Given the description of an element on the screen output the (x, y) to click on. 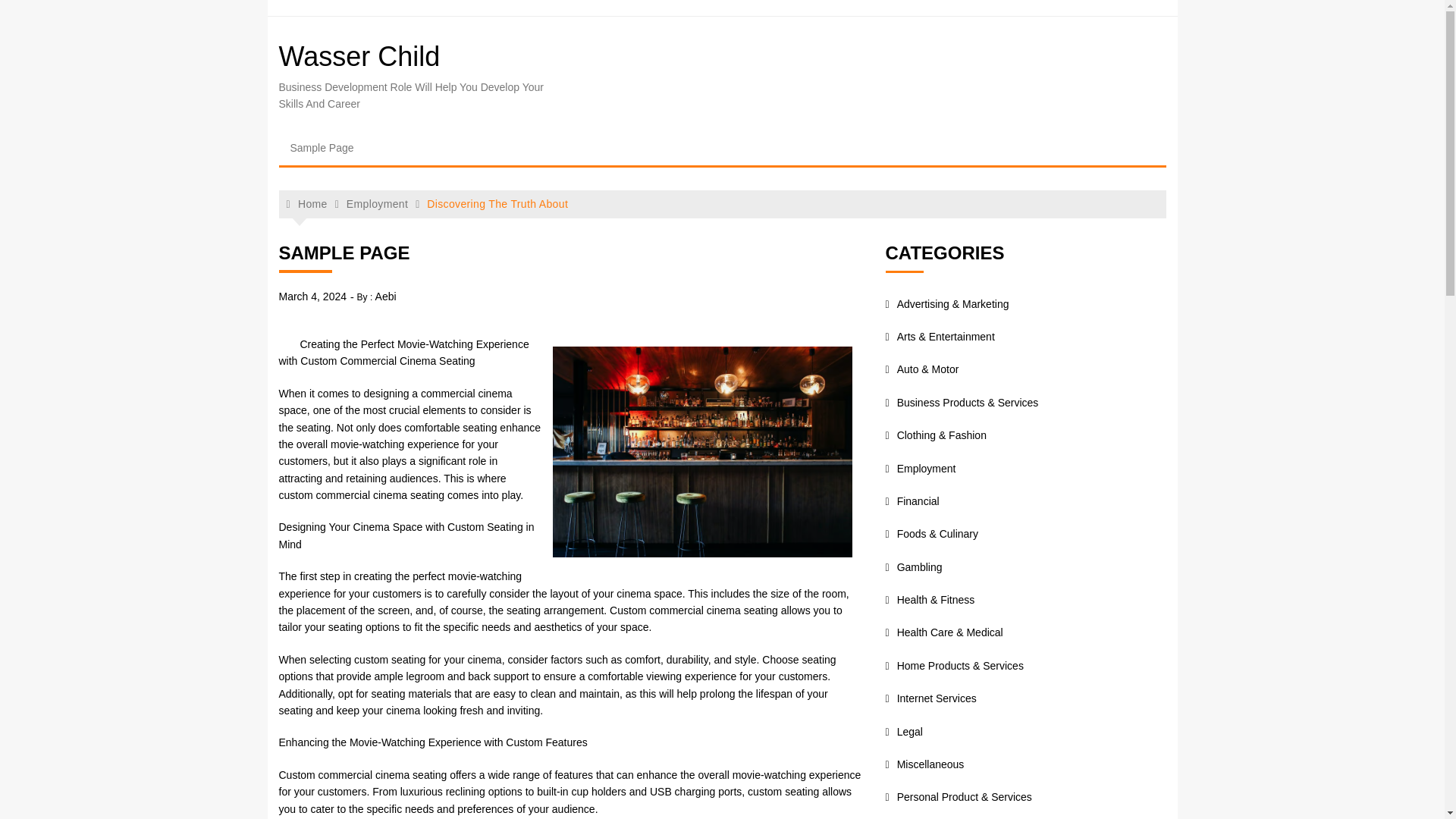
Employment (376, 203)
Gambling (913, 567)
Wasser Child (360, 56)
Financial (912, 500)
Home (306, 203)
March 4, 2024 (313, 296)
Employment (920, 468)
Sample Page (322, 147)
Aebi (385, 296)
